Given the description of an element on the screen output the (x, y) to click on. 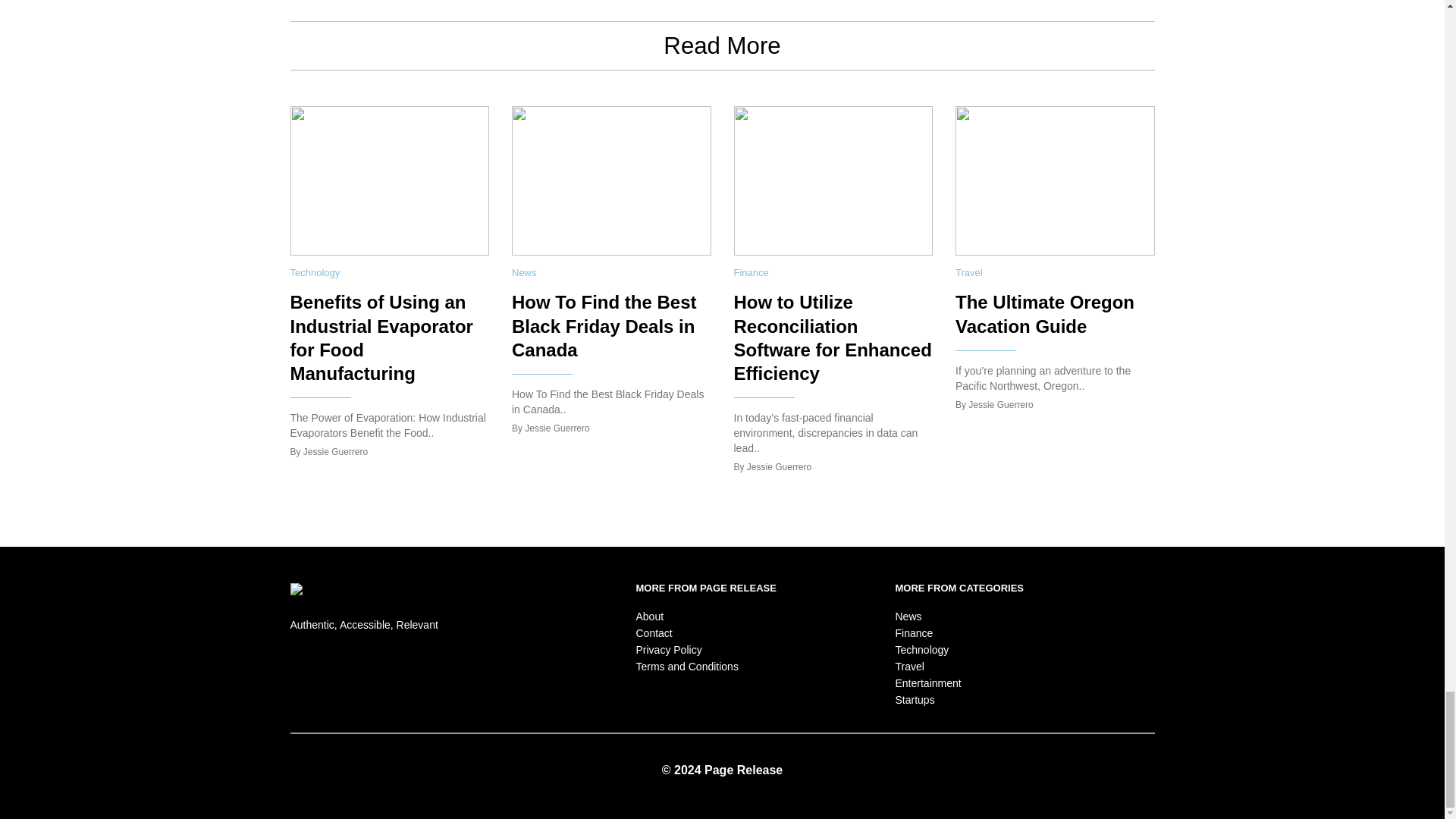
Technology (314, 272)
By Jessie Guerrero (772, 467)
By Jessie Guerrero (328, 452)
How To Find the Best Black Friday Deals in Canada (604, 325)
How To Find the Best Black Friday Deals in Canada.. (607, 401)
By Jessie Guerrero (550, 428)
News (524, 272)
